Given the description of an element on the screen output the (x, y) to click on. 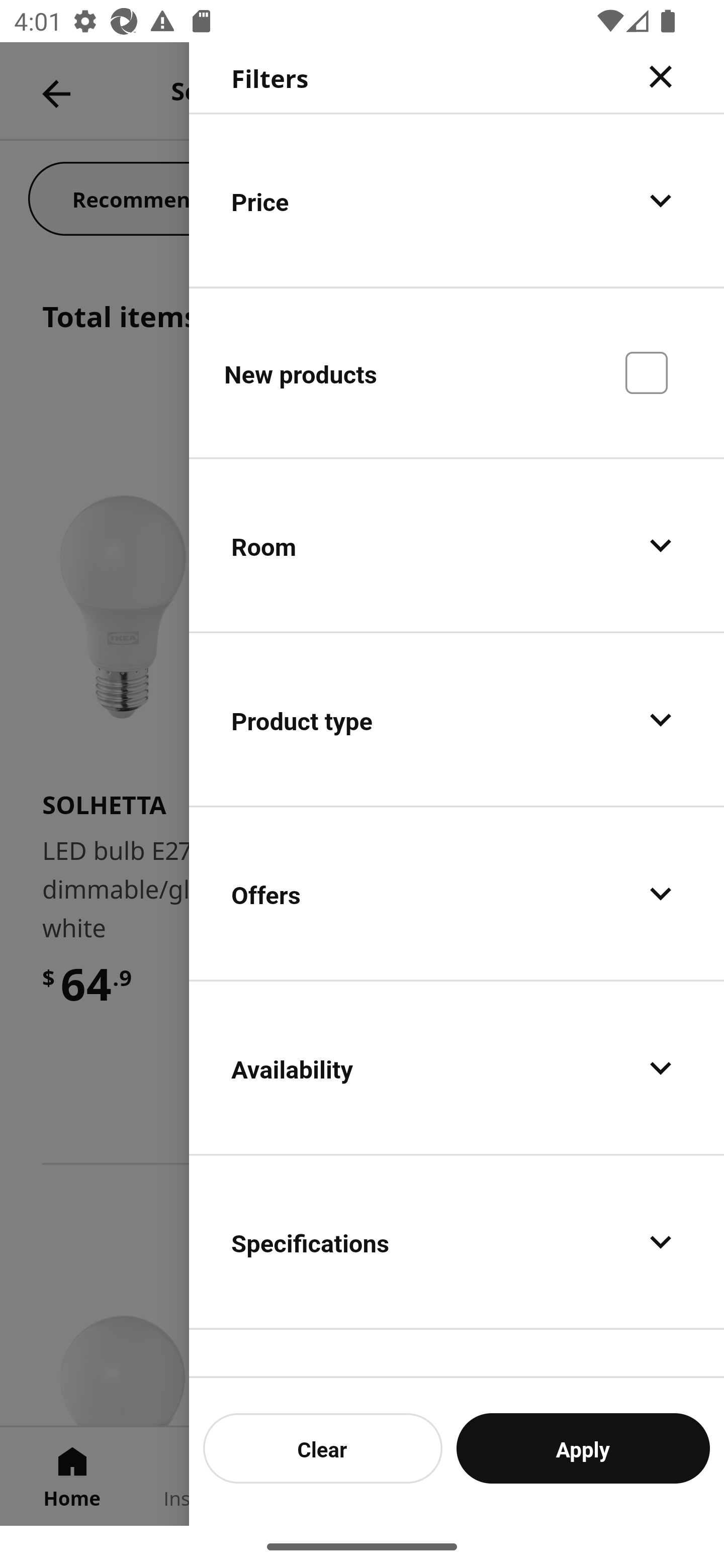
Price (456, 200)
New products (456, 371)
Room (456, 545)
Product type (456, 719)
Offers (456, 893)
Availability (456, 1067)
Specifications (456, 1241)
Clear (322, 1447)
Apply (583, 1447)
